Given the description of an element on the screen output the (x, y) to click on. 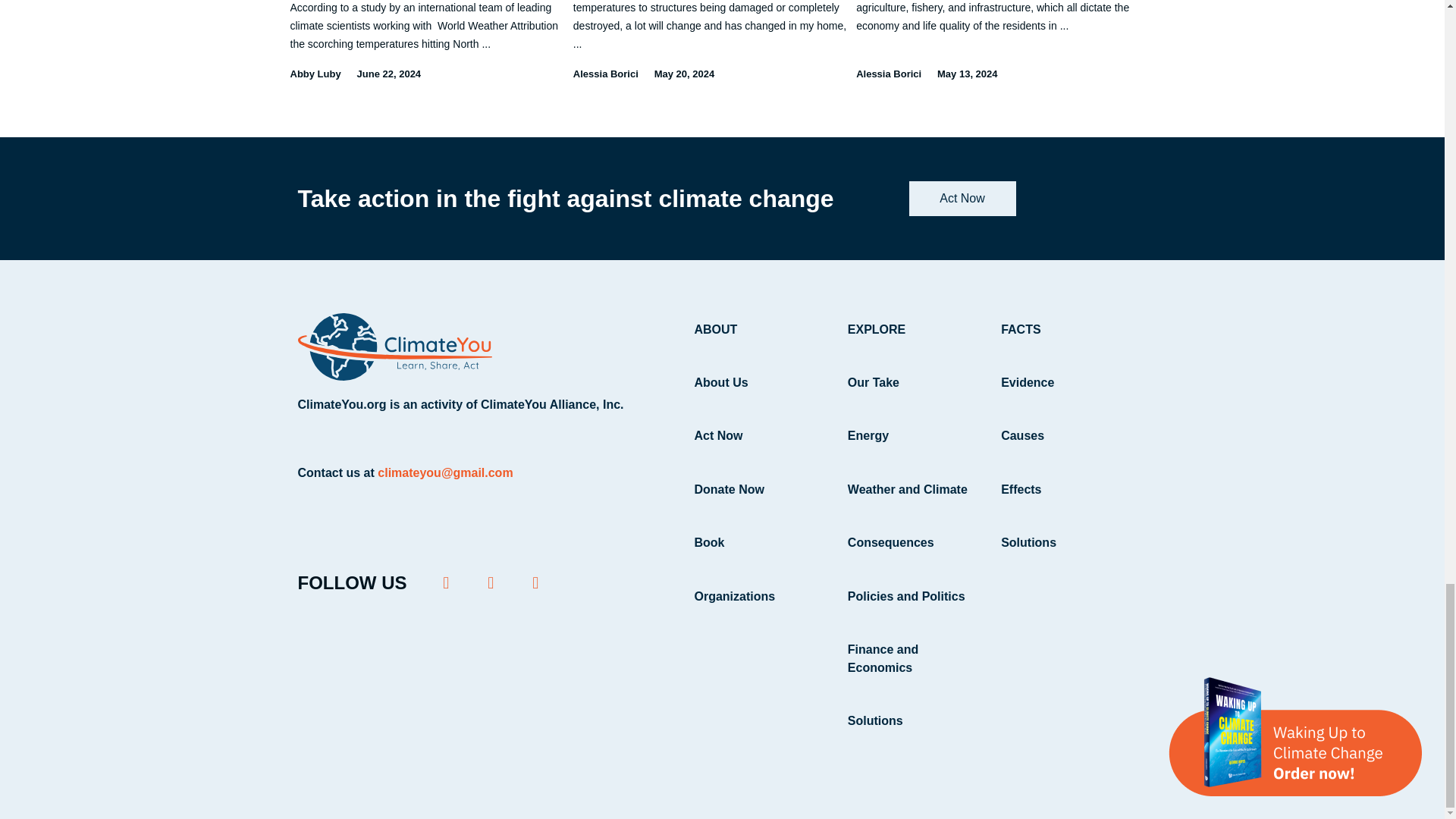
Act Now (961, 198)
footer-logo (394, 346)
